Given the description of an element on the screen output the (x, y) to click on. 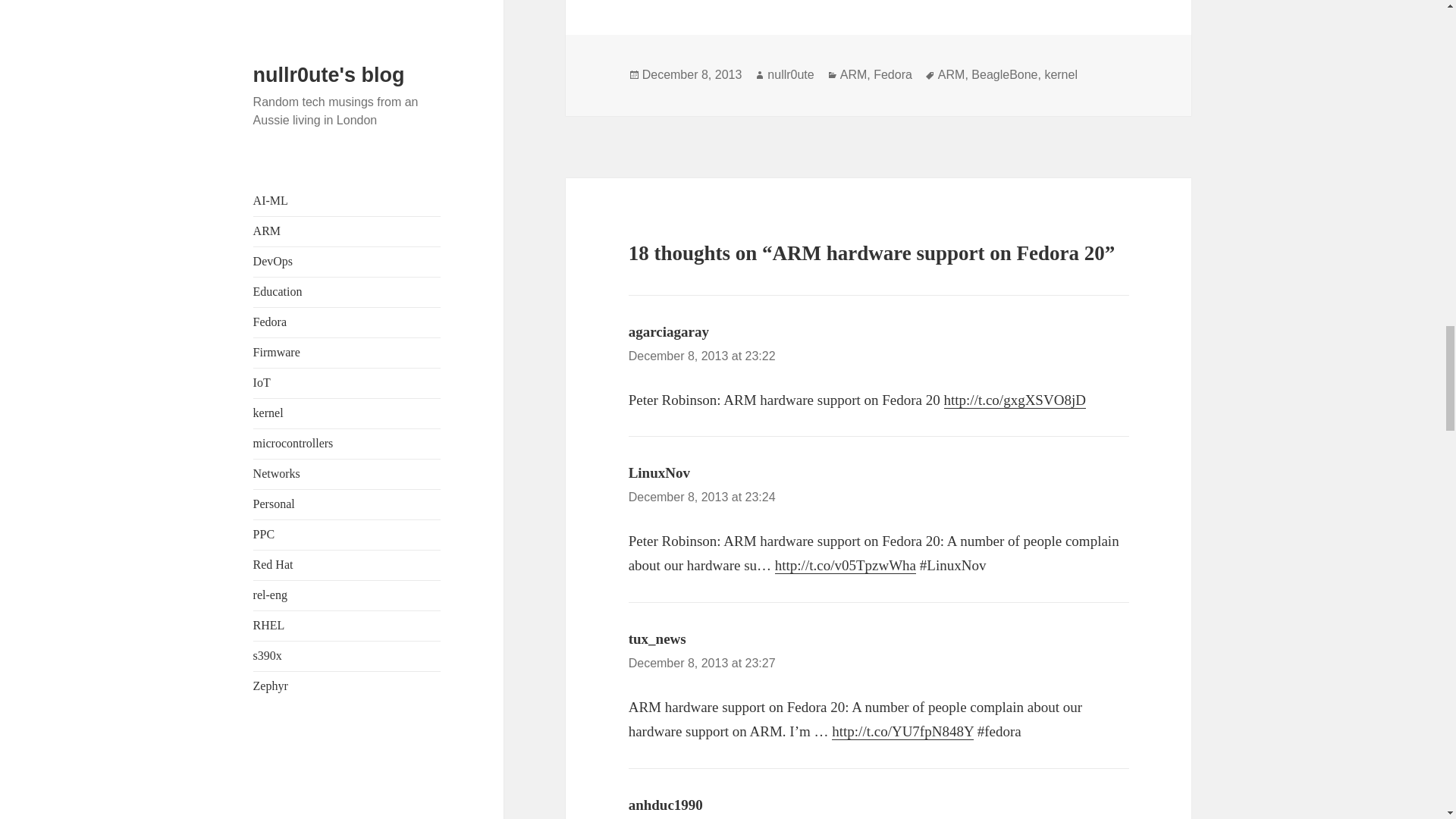
LinuxNov (659, 472)
December 8, 2013 at 23:24 (702, 496)
kernel (1060, 74)
Fedora (892, 74)
ARM (951, 74)
ARM (853, 74)
BeagleBone (1003, 74)
agarciagaray (668, 331)
December 8, 2013 (692, 74)
nullr0ute (790, 74)
December 8, 2013 at 23:22 (702, 355)
